Given the description of an element on the screen output the (x, y) to click on. 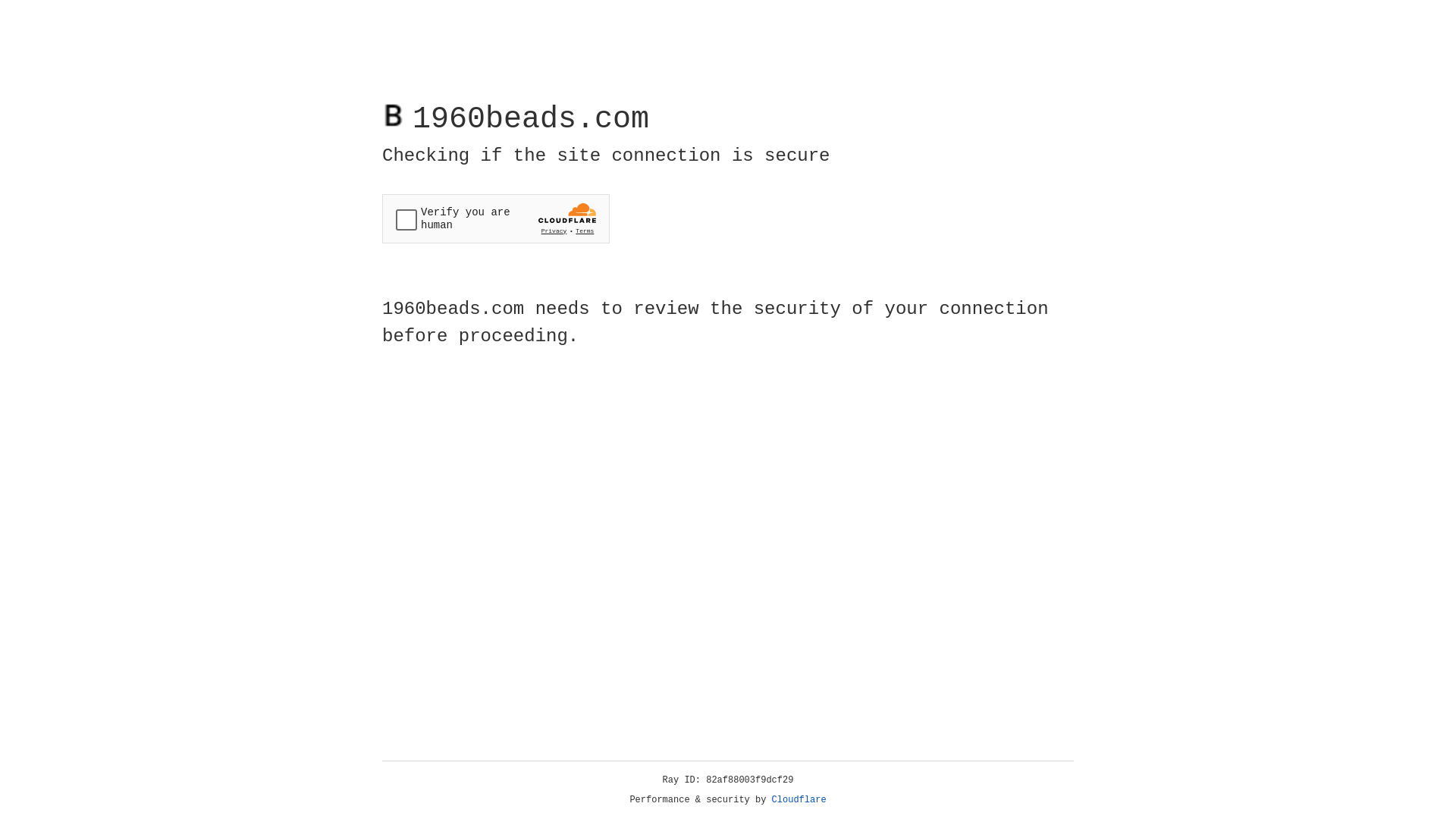
Cloudflare Element type: text (798, 799)
Widget containing a Cloudflare security challenge Element type: hover (495, 218)
